Given the description of an element on the screen output the (x, y) to click on. 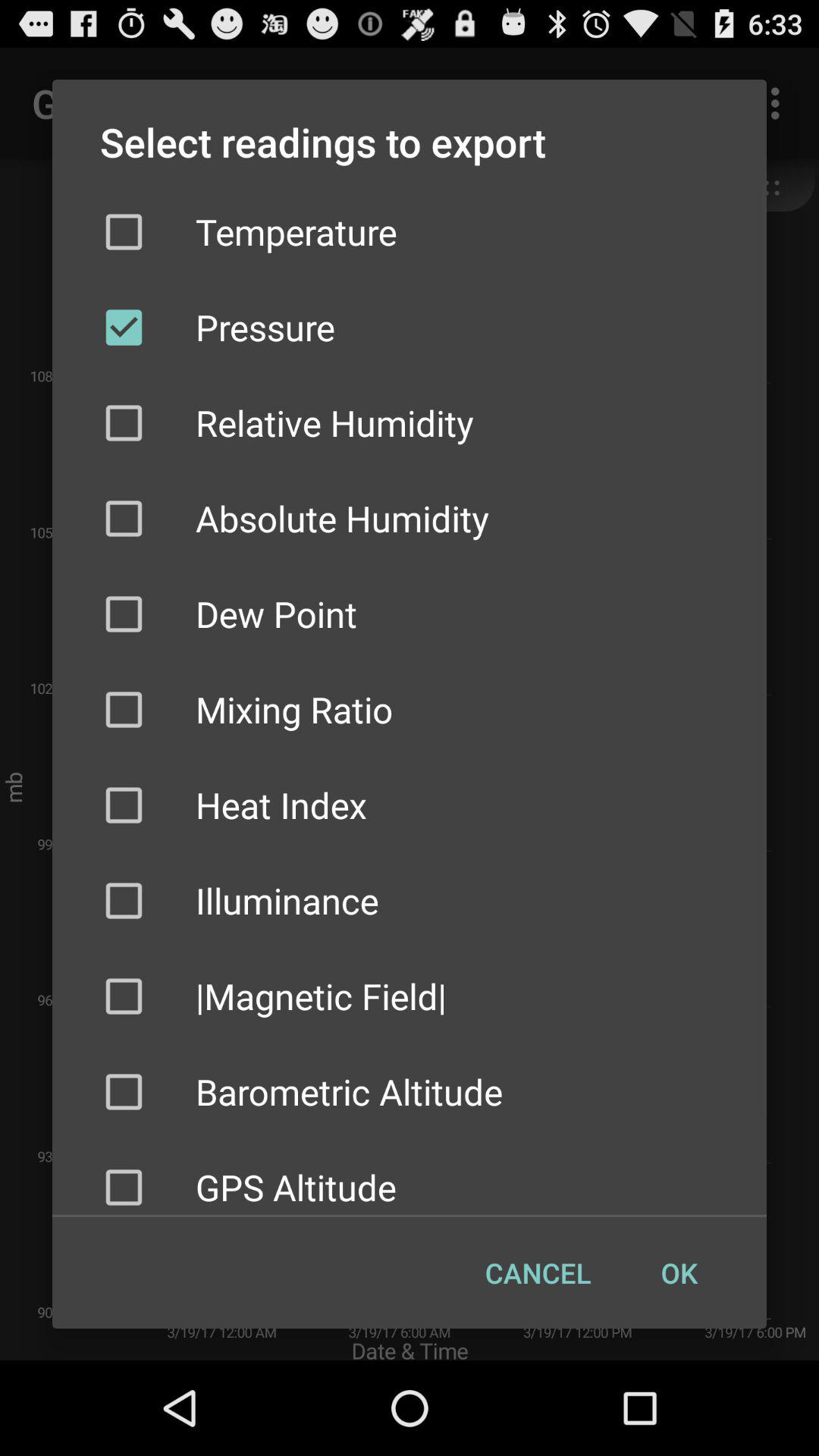
scroll to the cancel (538, 1272)
